Given the description of an element on the screen output the (x, y) to click on. 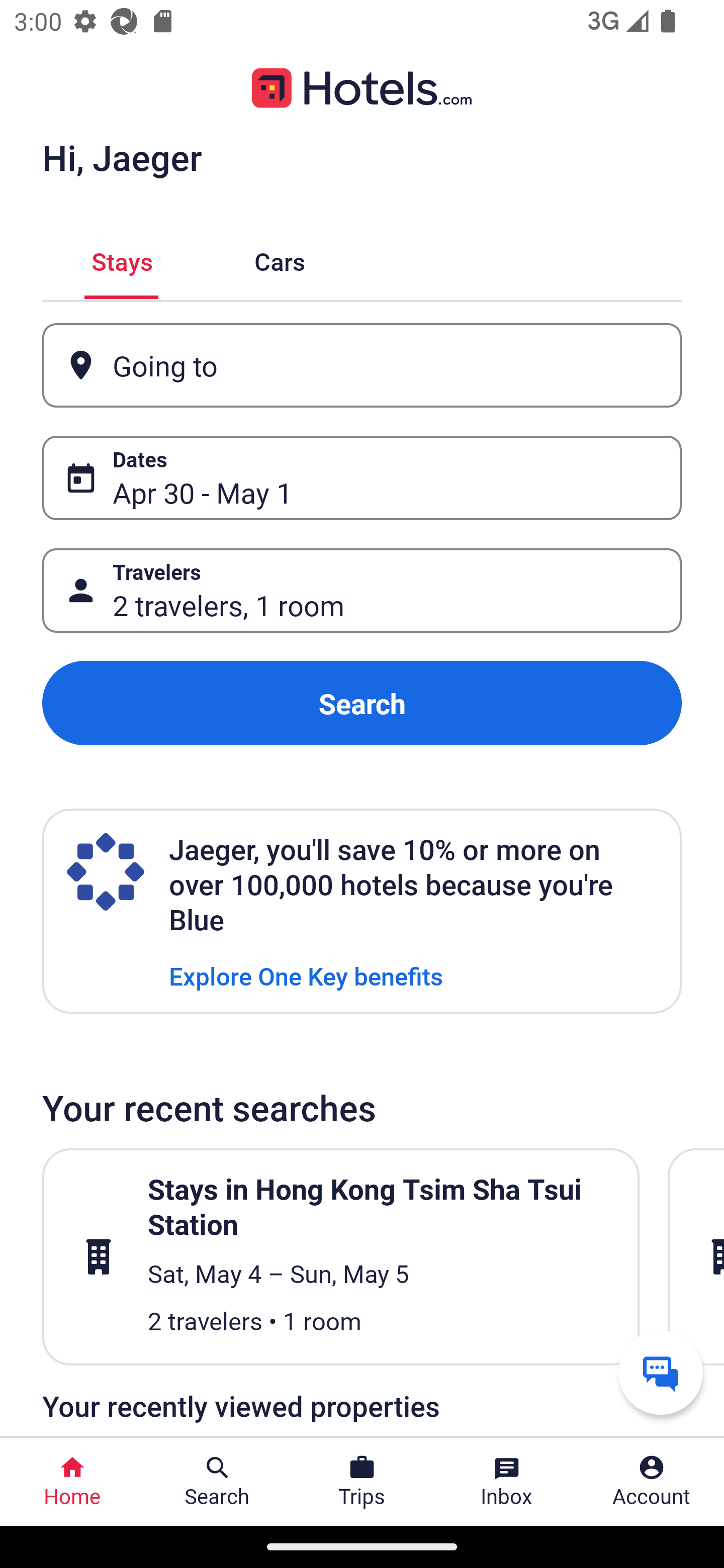
Hi, Jaeger (121, 156)
Cars (279, 259)
Going to Button (361, 365)
Dates Button Apr 30 - May 1 (361, 477)
Travelers Button 2 travelers, 1 room (361, 590)
Search (361, 702)
Get help from a virtual agent (660, 1371)
Search Search Button (216, 1481)
Trips Trips Button (361, 1481)
Inbox Inbox Button (506, 1481)
Account Profile. Button (651, 1481)
